Given the description of an element on the screen output the (x, y) to click on. 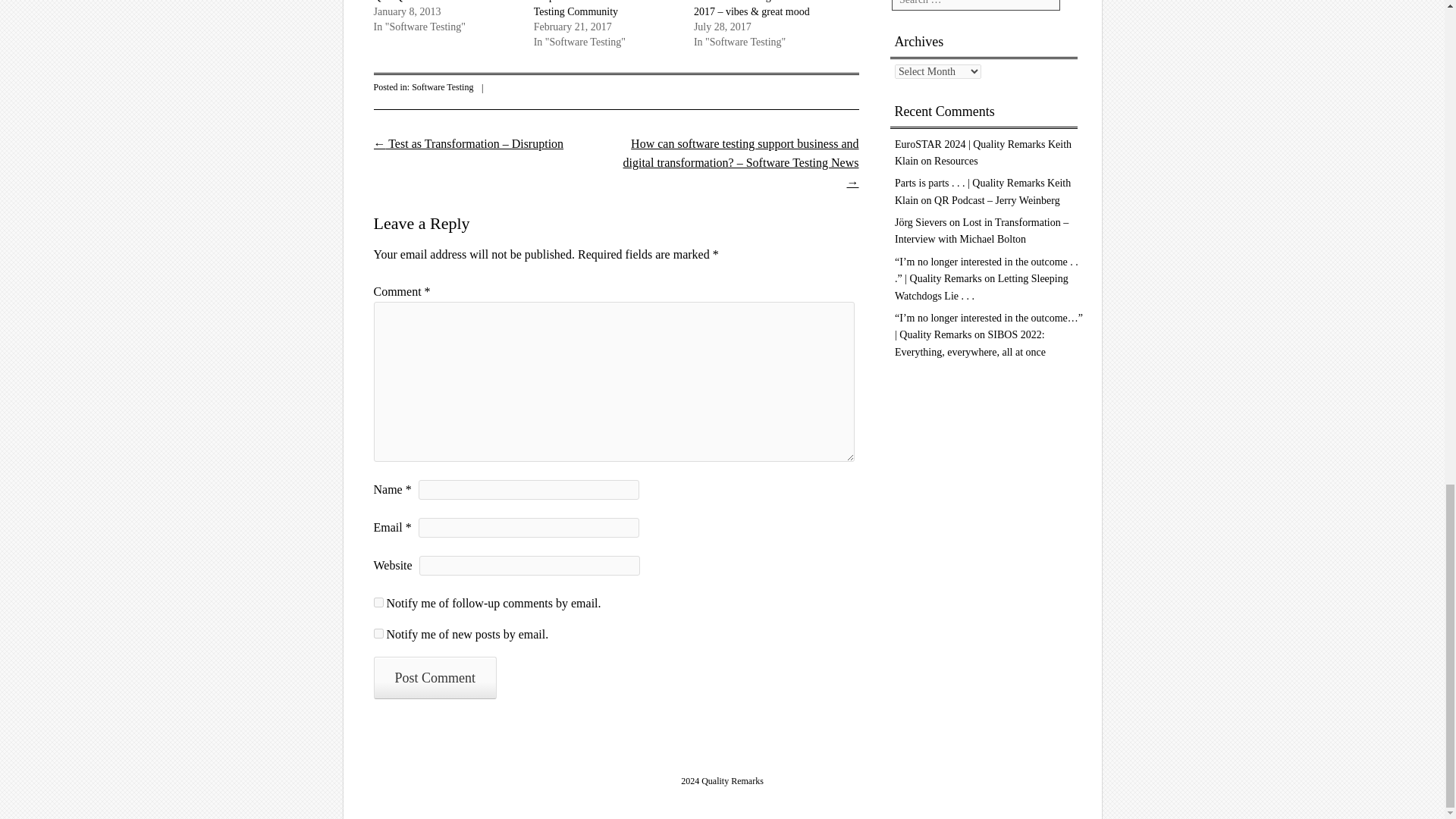
Post Comment (434, 677)
Software Testing (442, 86)
Help a Friend in the Software Testing Community (596, 8)
Post Comment (434, 677)
QAI QUEST 2013 Conference (437, 1)
subscribe (377, 602)
QAI QUEST 2013 Conference (437, 1)
Help a Friend in the Software Testing Community (596, 8)
subscribe (377, 633)
